Given the description of an element on the screen output the (x, y) to click on. 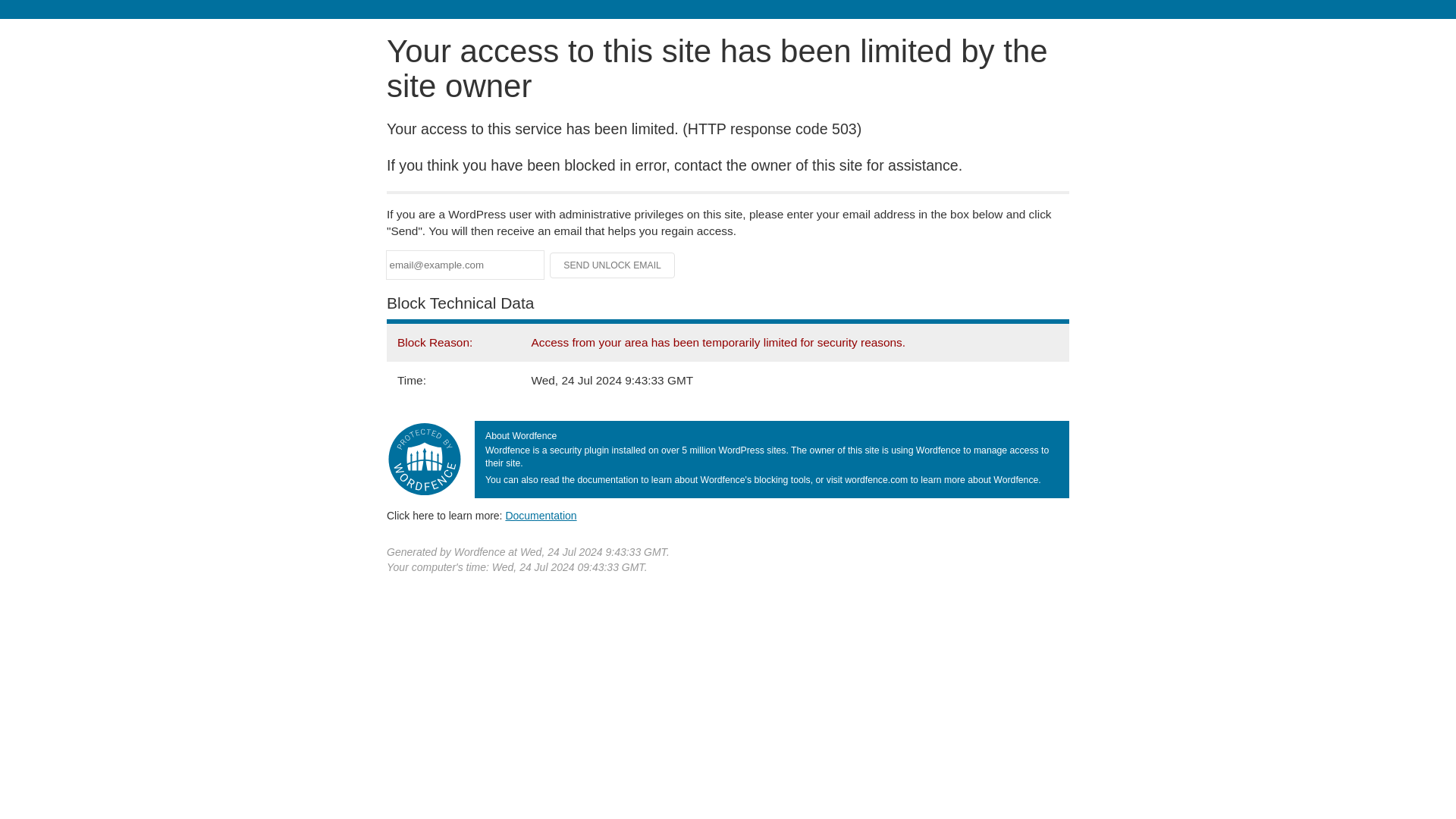
Send Unlock Email (612, 265)
Send Unlock Email (612, 265)
Documentation (540, 515)
